Given the description of an element on the screen output the (x, y) to click on. 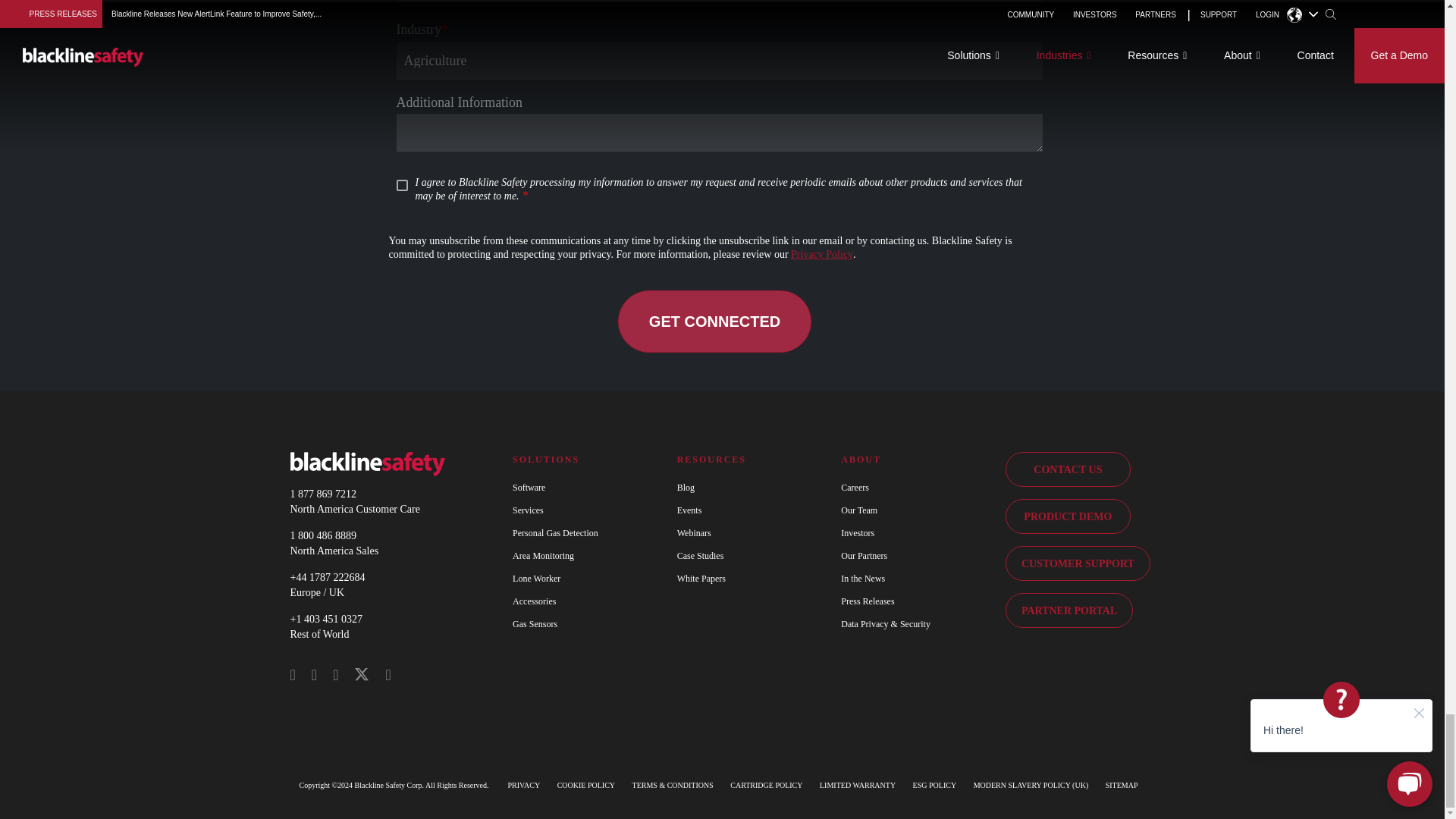
GET CONNECTED (713, 321)
